Given the description of an element on the screen output the (x, y) to click on. 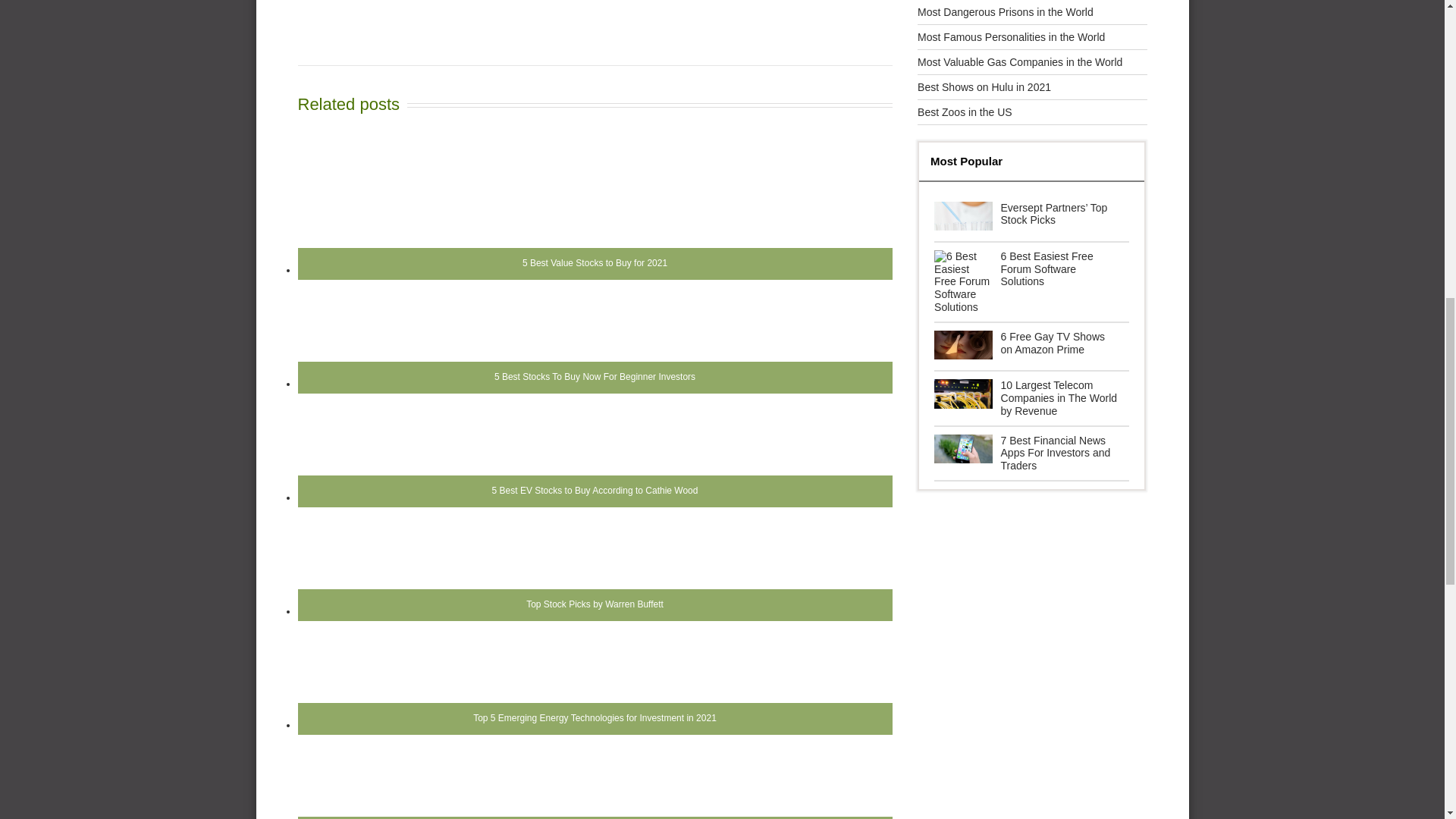
7 Best Financial News Apps For Investors and Traders (1031, 453)
Top 5 Emerging Energy Technologies for Investment in 2021 (594, 687)
6 Best Easiest Free Forum Software Solutions (1031, 281)
6 Free Gay TV Shows on Amazon Prime (1031, 346)
Top Stock Picks by Warren Buffett (594, 573)
5 Best EV Stocks to Buy According to Cathie Wood (594, 459)
5 Best Stocks To Buy Now For Beginner Investors (594, 346)
10 Largest Telecom Companies in The World by Revenue (1031, 397)
5 Best Value Stocks to Buy for 2021 (594, 232)
